Given the description of an element on the screen output the (x, y) to click on. 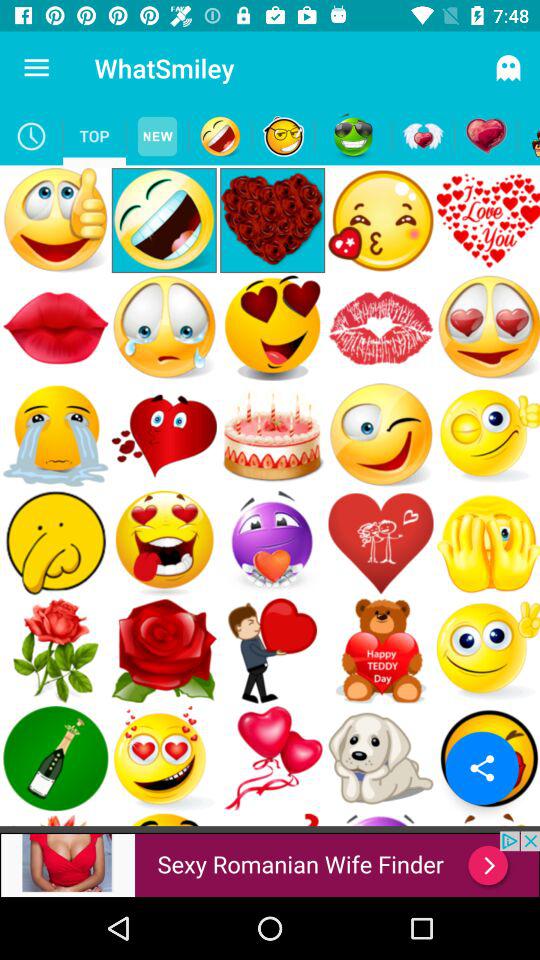
select emoji (528, 136)
